Given the description of an element on the screen output the (x, y) to click on. 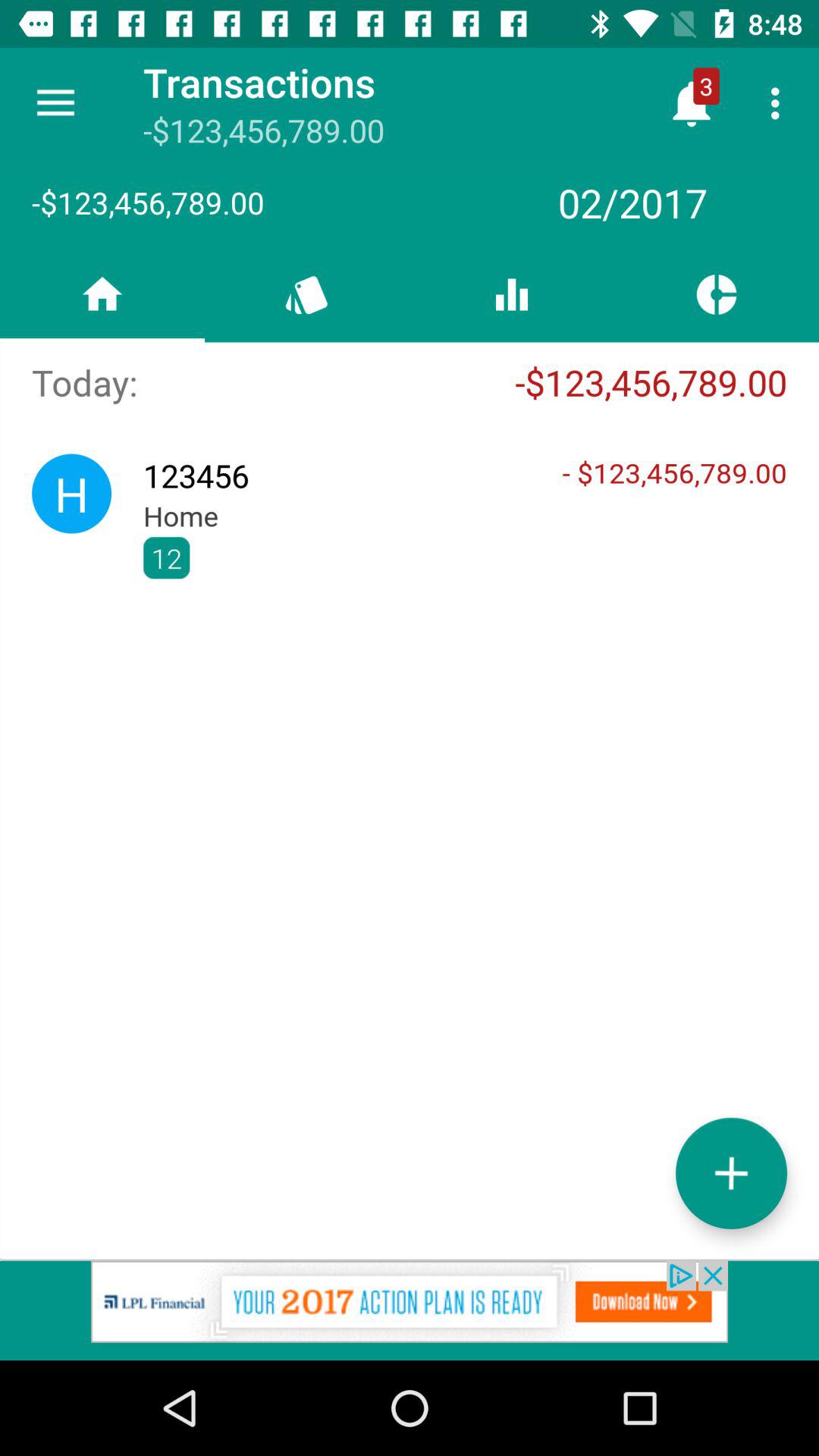
launch advertisement (409, 1310)
